Given the description of an element on the screen output the (x, y) to click on. 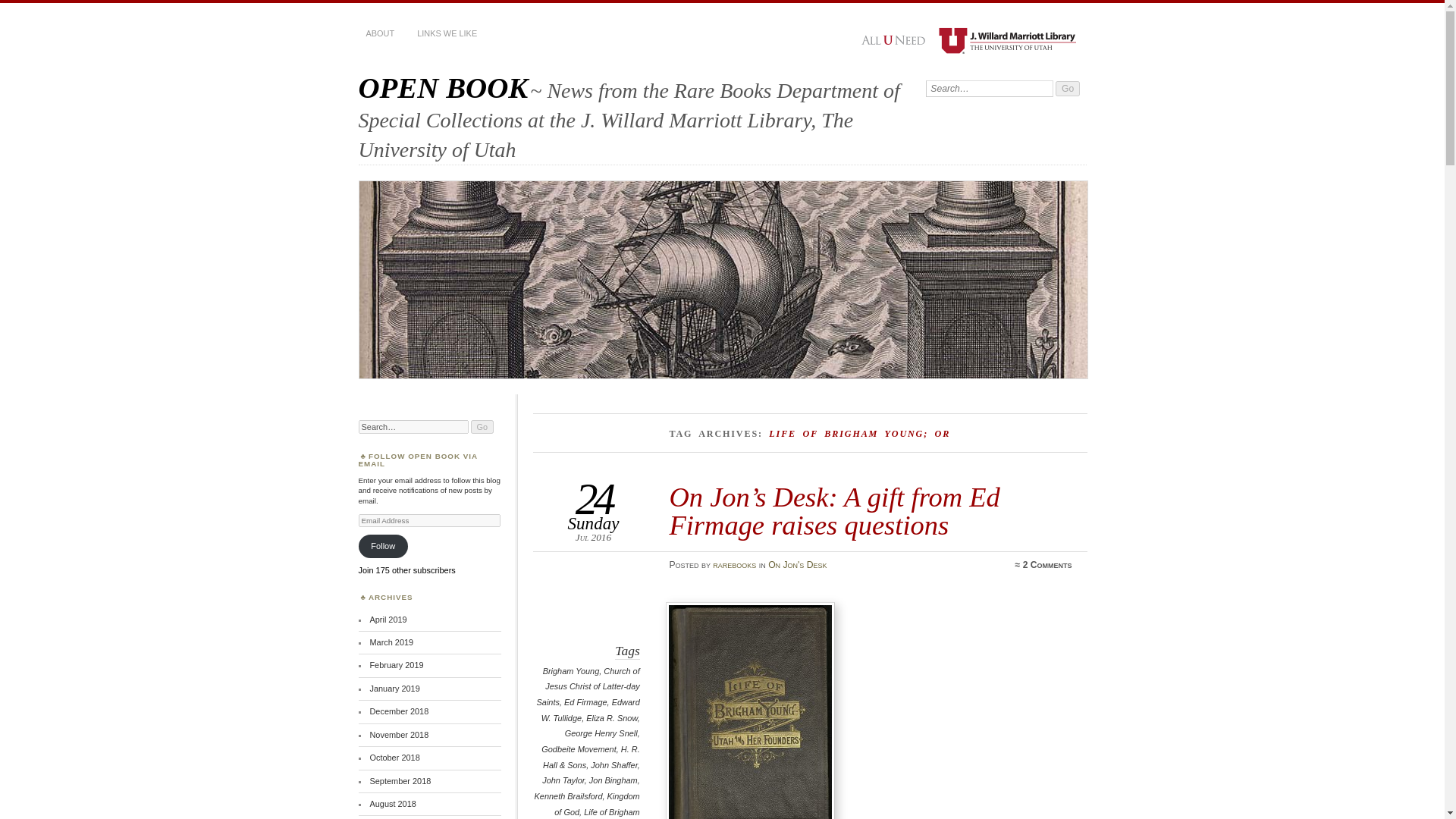
Jon Bingham (613, 779)
Church of Jesus Christ of Latter-day Saints (588, 686)
rarebooks (734, 564)
2 Comments (1047, 564)
Godbeite Movement (578, 748)
Kenneth Brailsford (568, 795)
Go (1067, 88)
George Henry Snell (600, 732)
Ed Firmage (585, 701)
Go (482, 427)
